Given the description of an element on the screen output the (x, y) to click on. 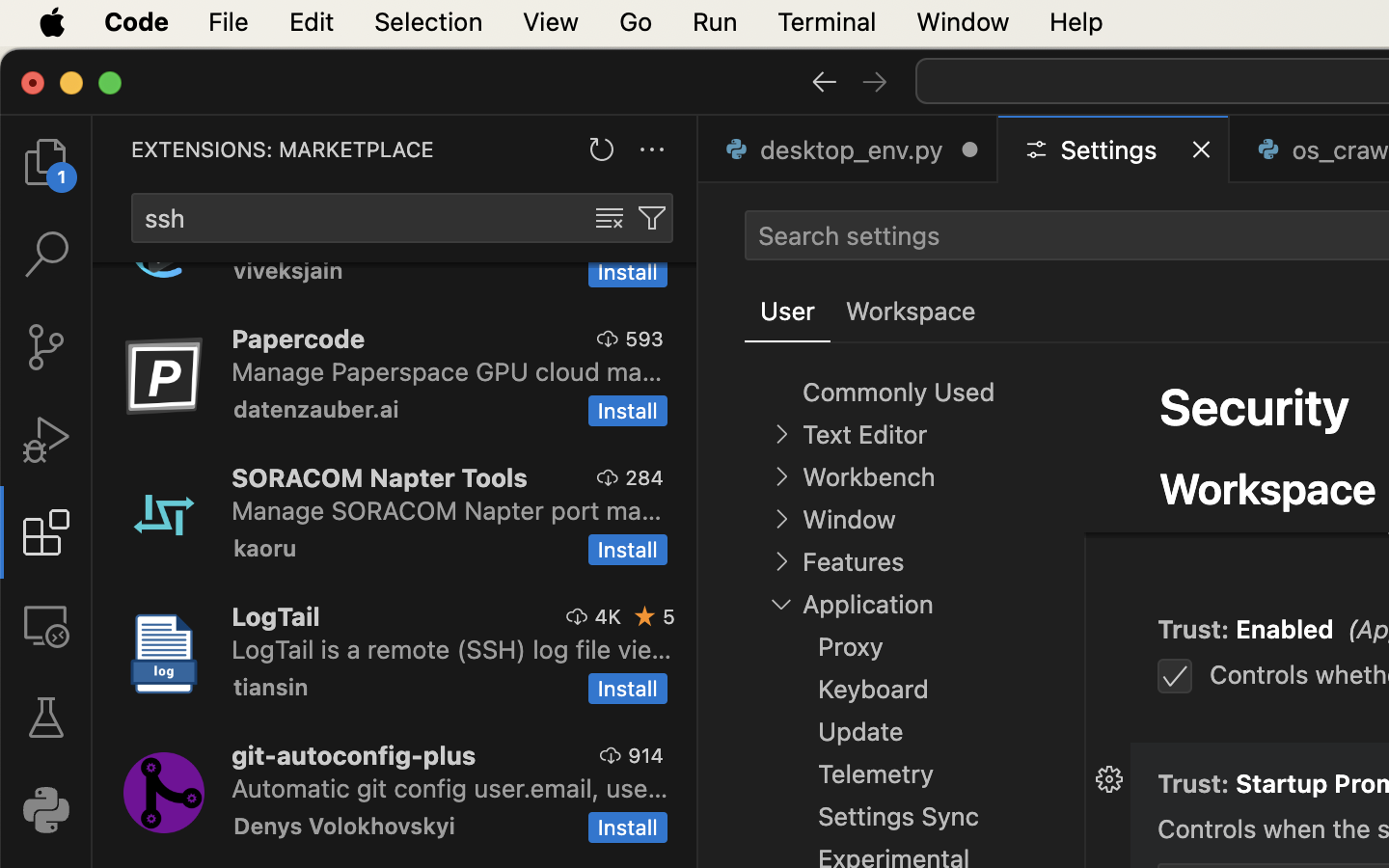
 Element type: AXStaticText (644, 615)
Workspace Element type: AXStaticText (1268, 487)
Papercode Element type: AXStaticText (298, 338)
Manage Paperspace GPU cloud machines directly from VS Code. Open with just one click a remote VS Code session, streamlining your machine learning & data science process and increasing productivity. Element type: AXStaticText (447, 370)
Trust: Element type: AXStaticText (1196, 440)
